Given the description of an element on the screen output the (x, y) to click on. 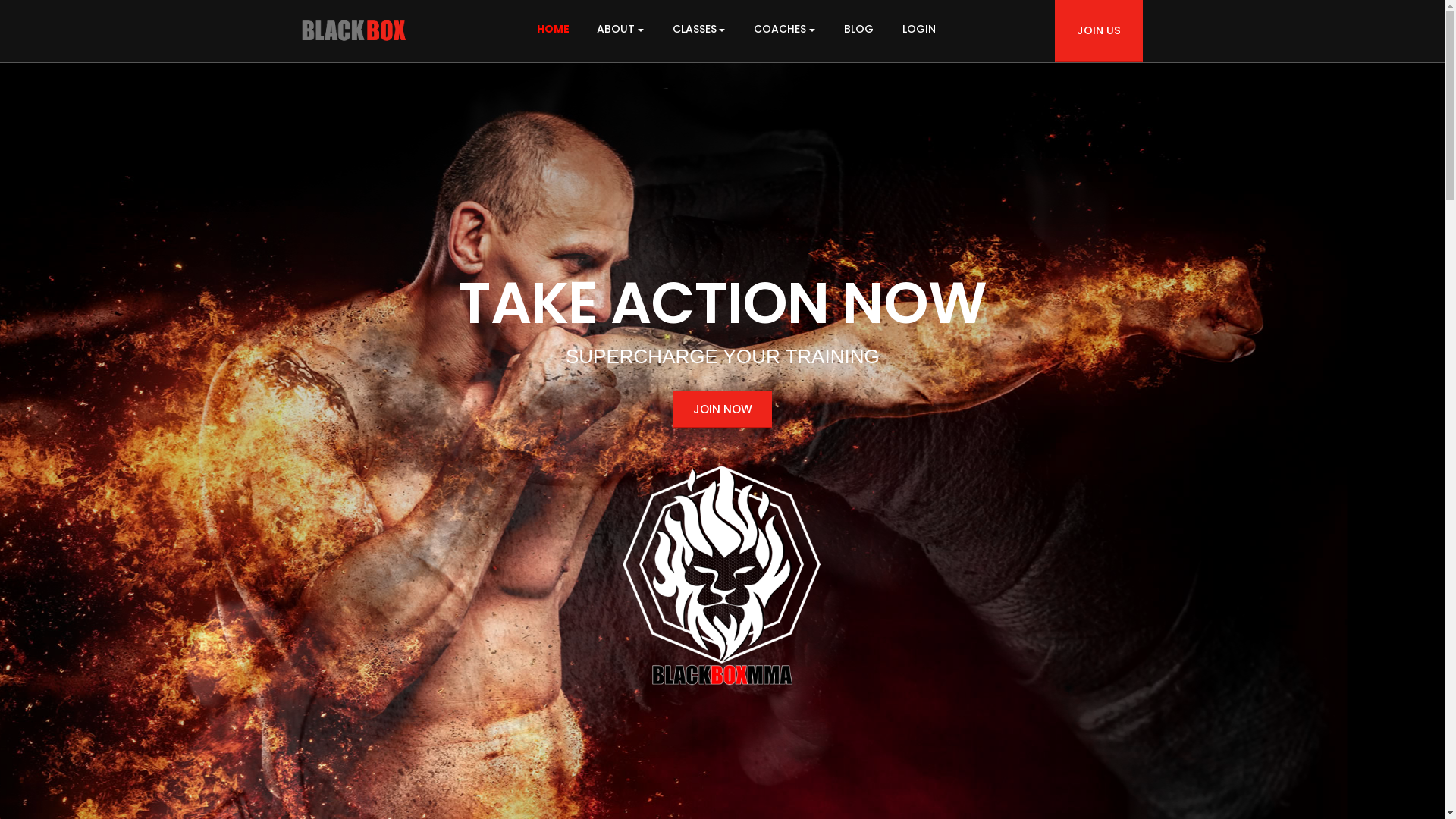
JOIN US Element type: text (1098, 31)
HOME Element type: text (553, 28)
COACHES Element type: text (784, 28)
CLASSES Element type: text (698, 28)
CLASSES Element type: text (700, 77)
JOIN NOW Element type: text (722, 408)
LOGIN Element type: text (919, 77)
BLOG Element type: text (858, 28)
ABOUT Element type: text (620, 77)
COACHES Element type: text (785, 77)
LOGIN Element type: text (918, 28)
ABOUT Element type: text (620, 28)
BLOG Element type: text (859, 77)
